Given the description of an element on the screen output the (x, y) to click on. 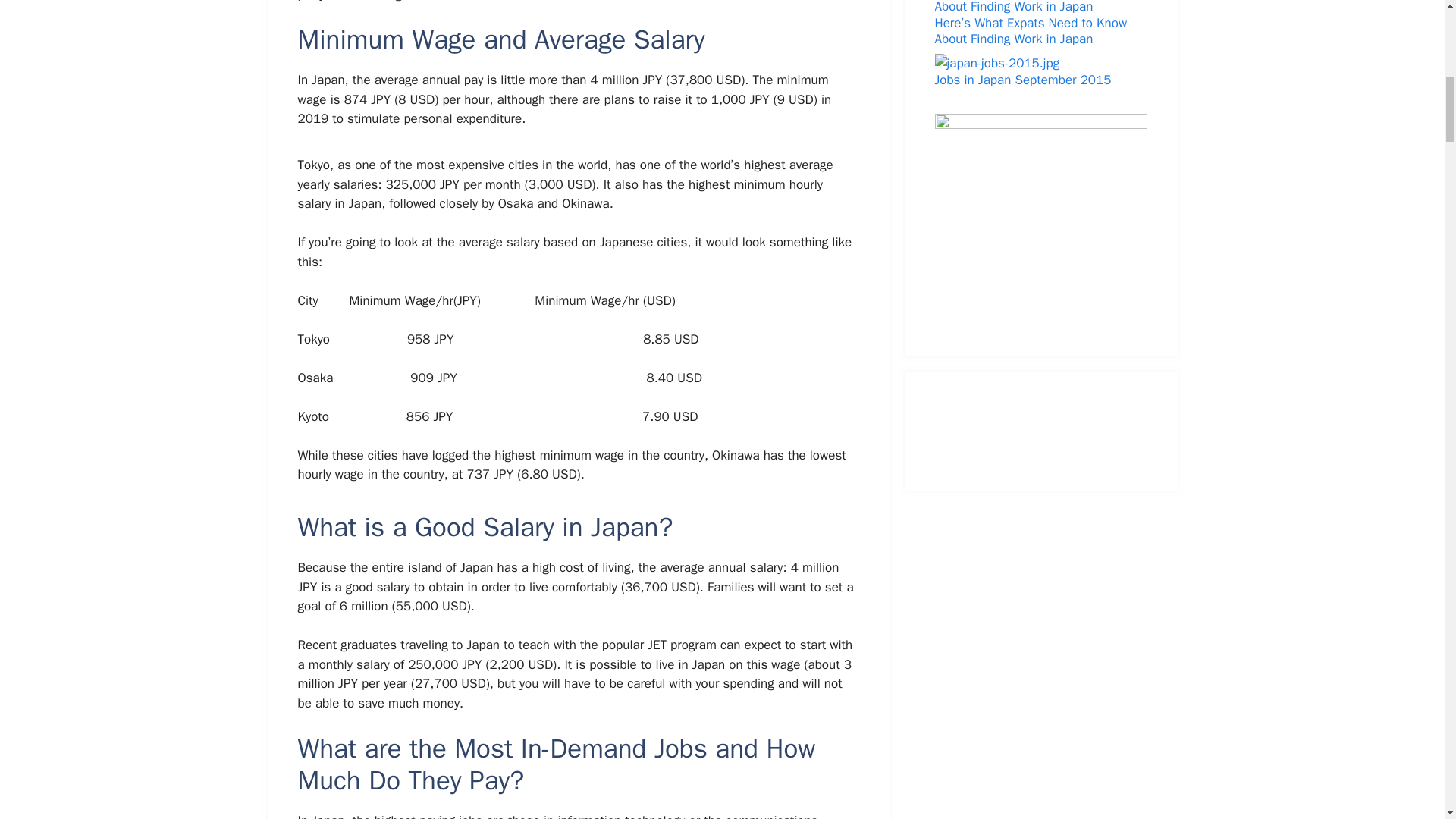
Scroll back to top (1406, 720)
